Given the description of an element on the screen output the (x, y) to click on. 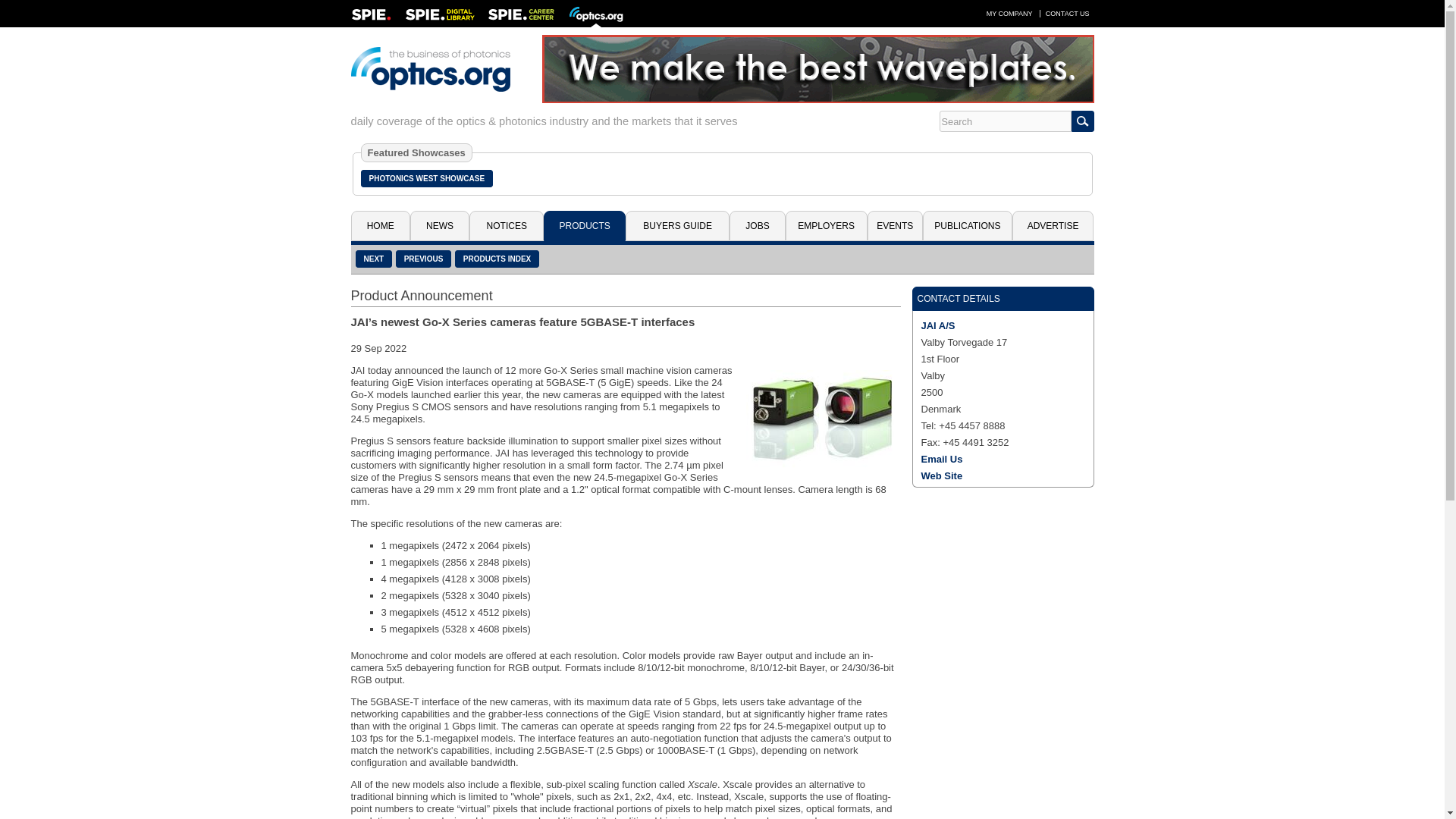
JOBS (757, 225)
PHOTONICS WEST SHOWCASE (427, 178)
CONTACT US (1067, 13)
NEWS (439, 225)
NOTICES (505, 225)
MY COMPANY (1008, 13)
PRODUCTS (584, 225)
Search (1004, 120)
HOME (379, 225)
BUYERS GUIDE (677, 225)
